Given the description of an element on the screen output the (x, y) to click on. 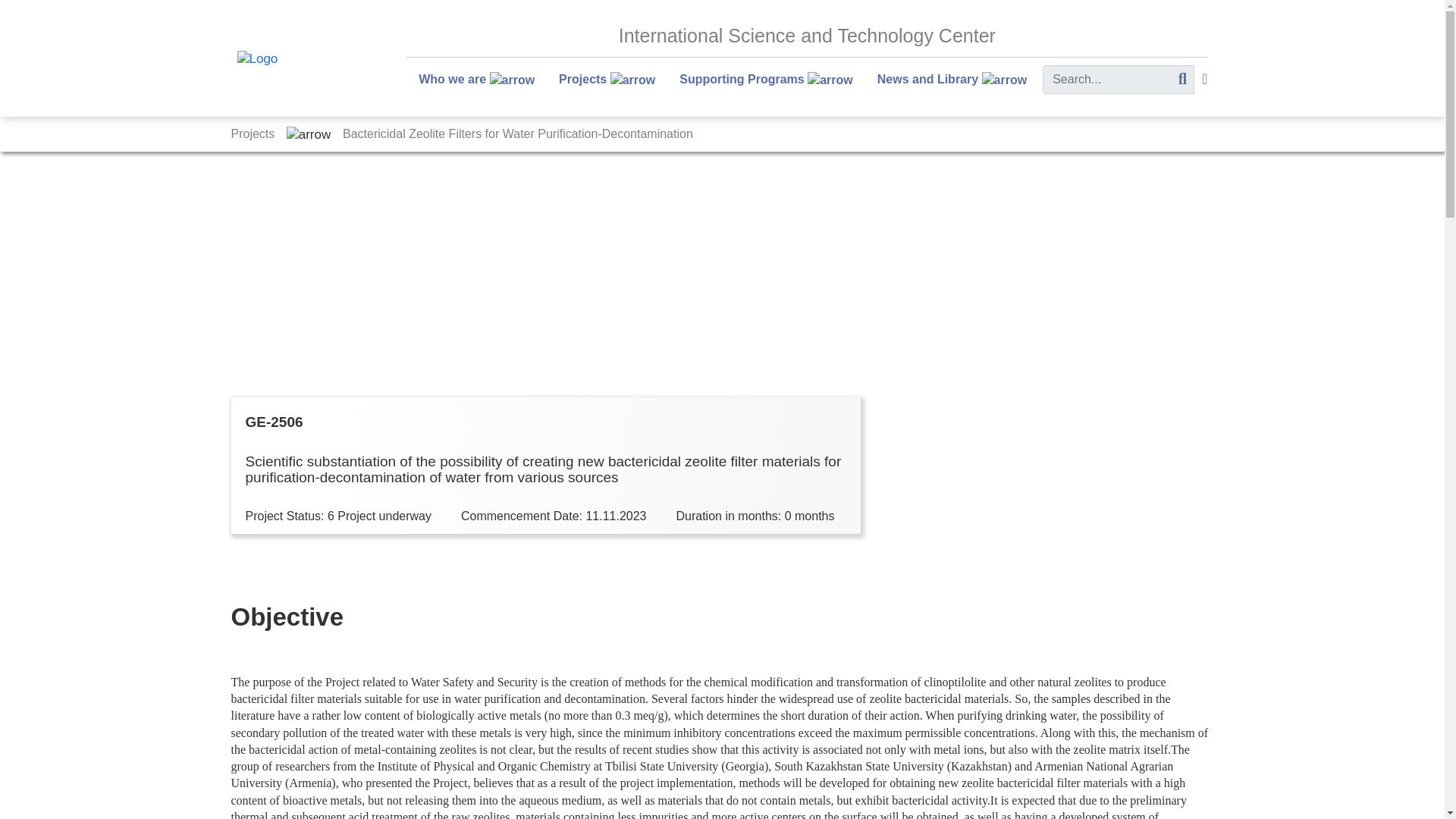
Projects (606, 79)
Projects (254, 133)
News and Library (951, 79)
Who we are (476, 79)
Supporting Programs (765, 79)
